Given the description of an element on the screen output the (x, y) to click on. 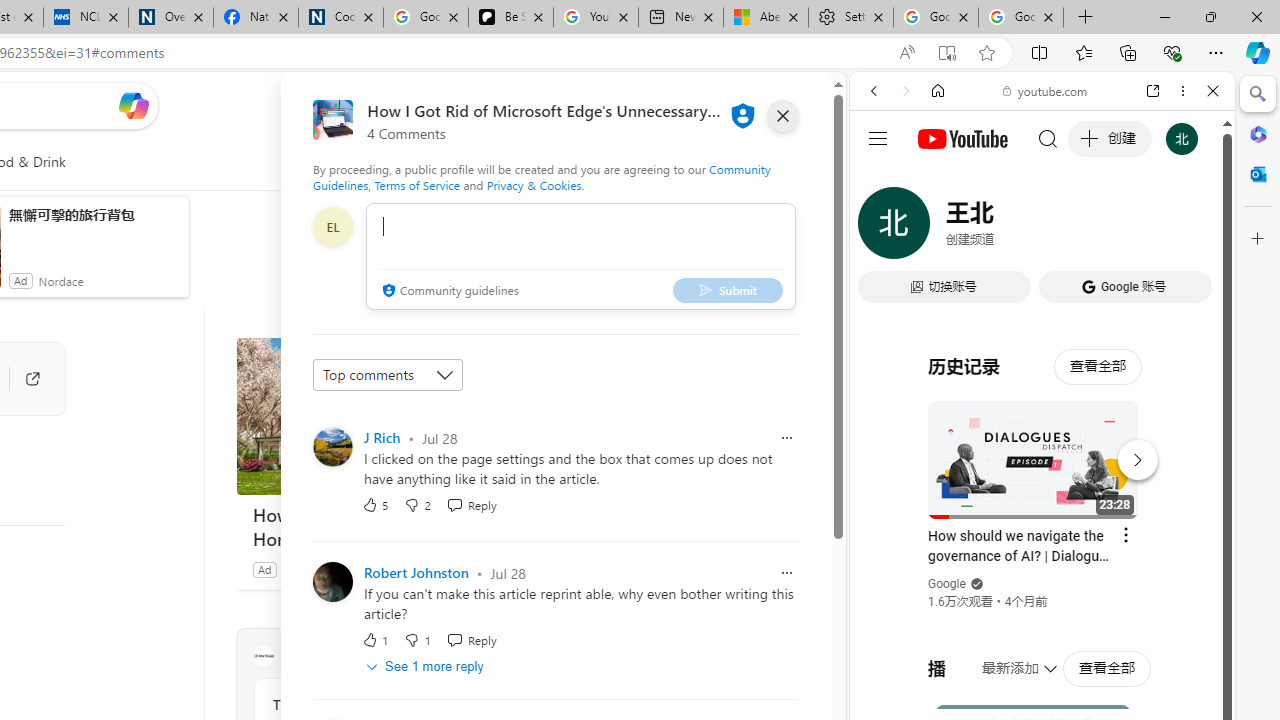
Profile Picture (333, 581)
Microsoft rewards (707, 105)
Browser essentials (1171, 52)
Nordace (61, 280)
More options (1182, 91)
LendingTree (313, 569)
youtube.com (1046, 90)
VIDEOS (1006, 228)
Be Smart | creating Science videos | Patreon (510, 17)
Cookies (340, 17)
Robert Johnston (415, 573)
YouTube (1034, 296)
